Given the description of an element on the screen output the (x, y) to click on. 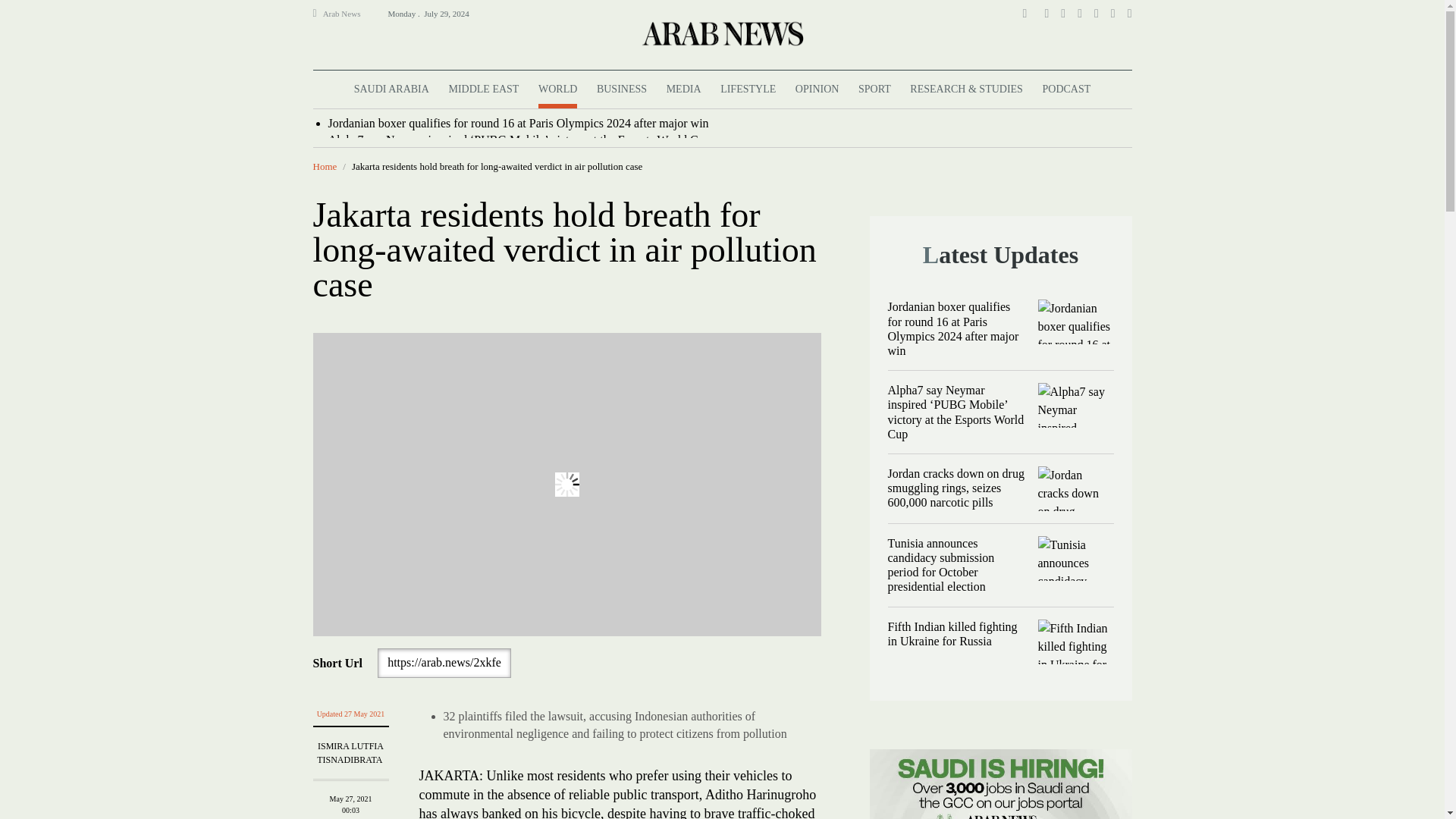
SAUDI ARABIA (391, 89)
MIDDLE EAST (483, 89)
Fifth Indian killed fighting in Ukraine for Russia (1074, 641)
Arabnews (721, 33)
Arab News (348, 13)
